Given the description of an element on the screen output the (x, y) to click on. 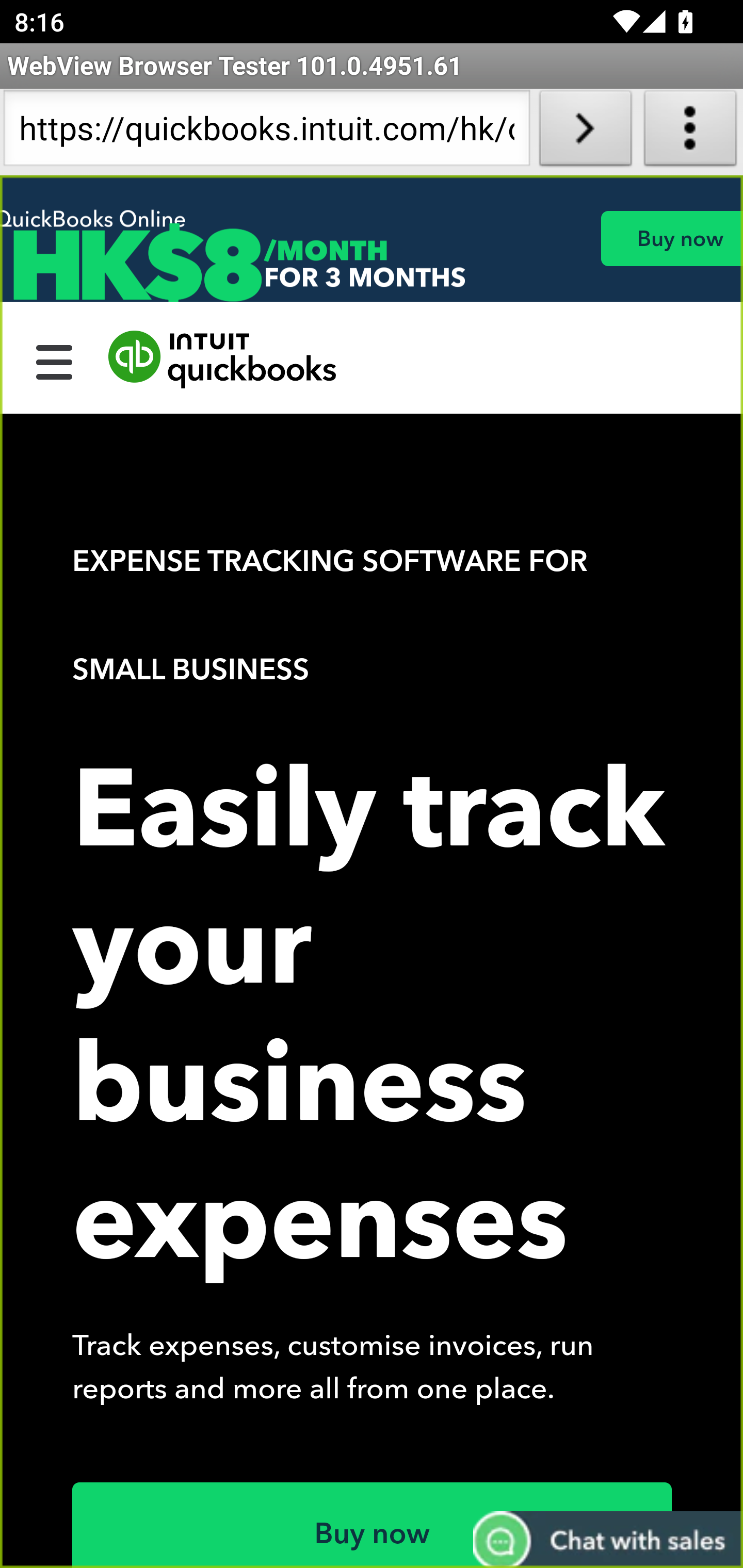
Load URL (585, 132)
About WebView (690, 132)
Buy now (671, 238)
quickbooks-mobile-burger (54, 359)
quickbooks (222, 359)
Buy now (372, 1524)
